Given the description of an element on the screen output the (x, y) to click on. 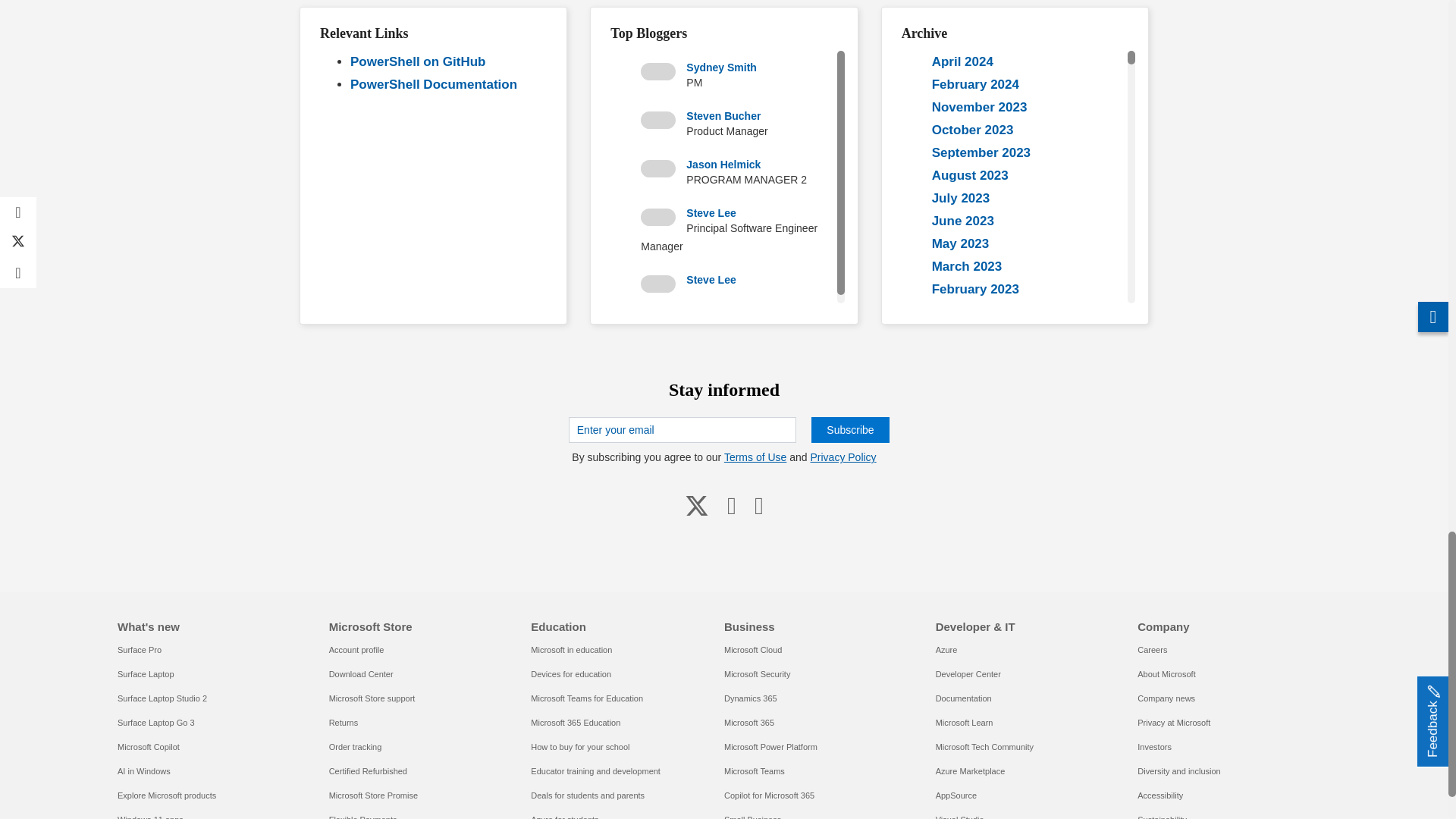
Subscribe (849, 429)
youtube (731, 504)
twitter (696, 504)
RSS Feed (759, 504)
